Given the description of an element on the screen output the (x, y) to click on. 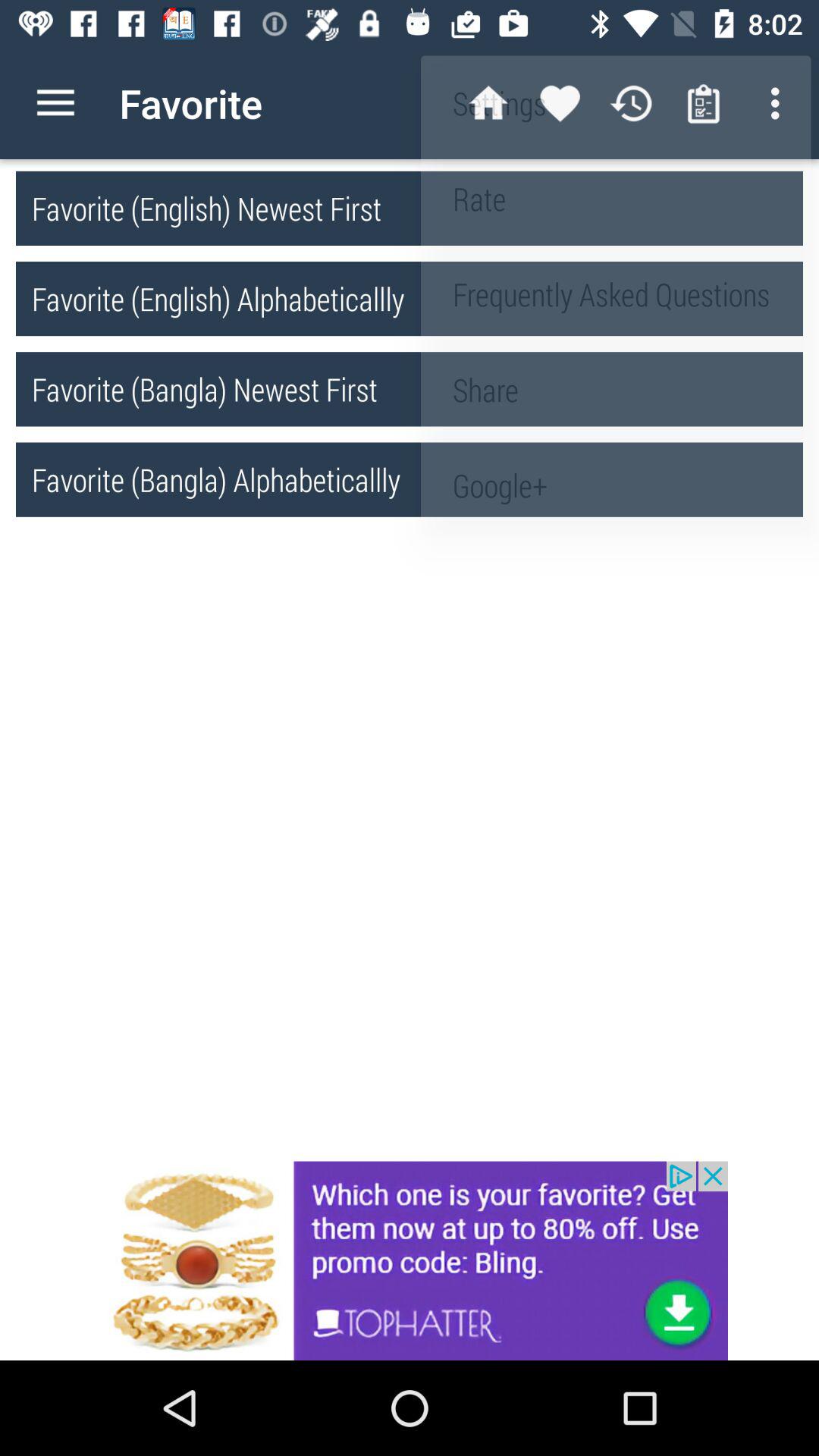
click on the advertisement (409, 1260)
